Given the description of an element on the screen output the (x, y) to click on. 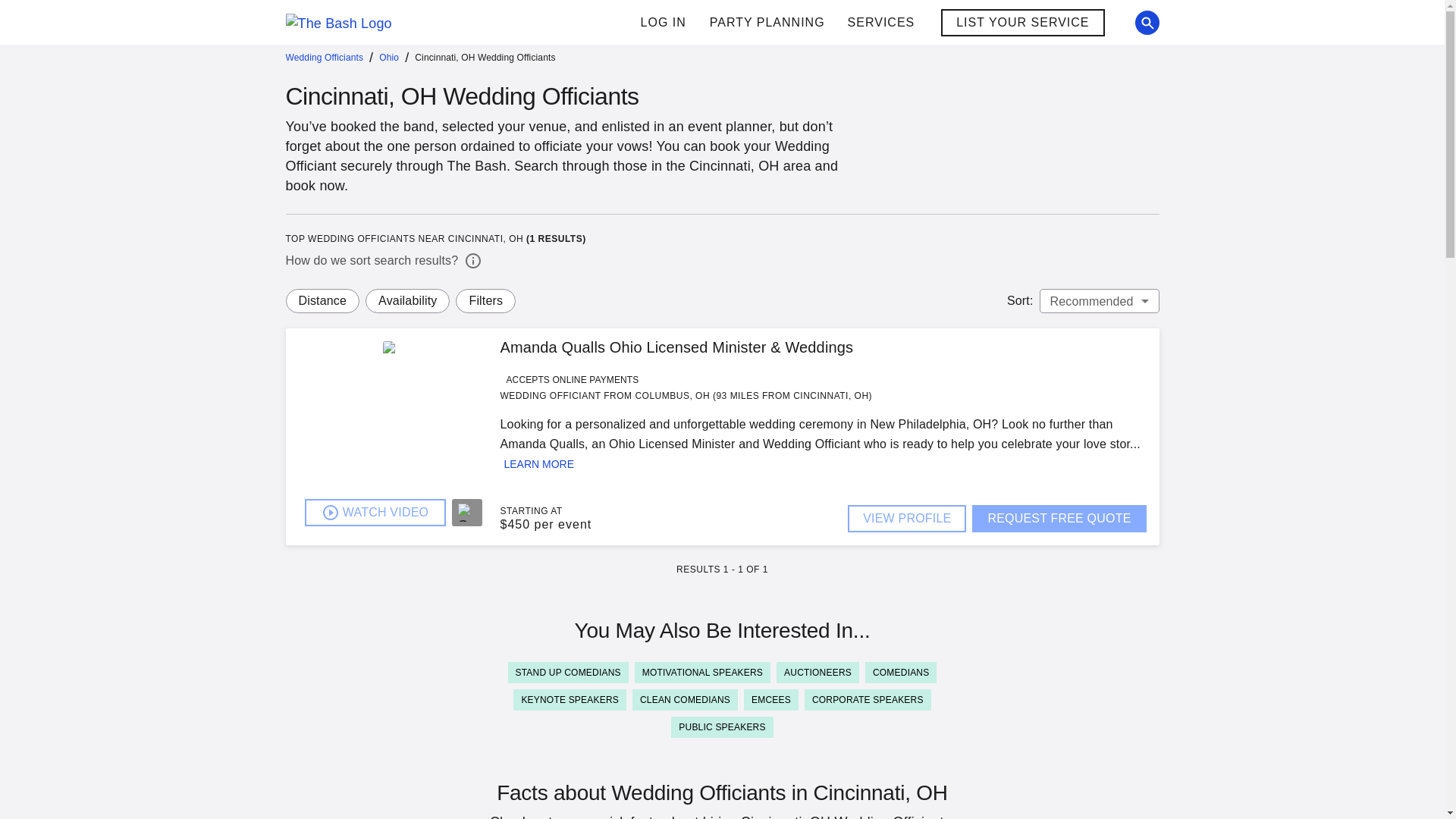
LIST YOUR SERVICE (812, 22)
LOG IN (1021, 22)
